Given the description of an element on the screen output the (x, y) to click on. 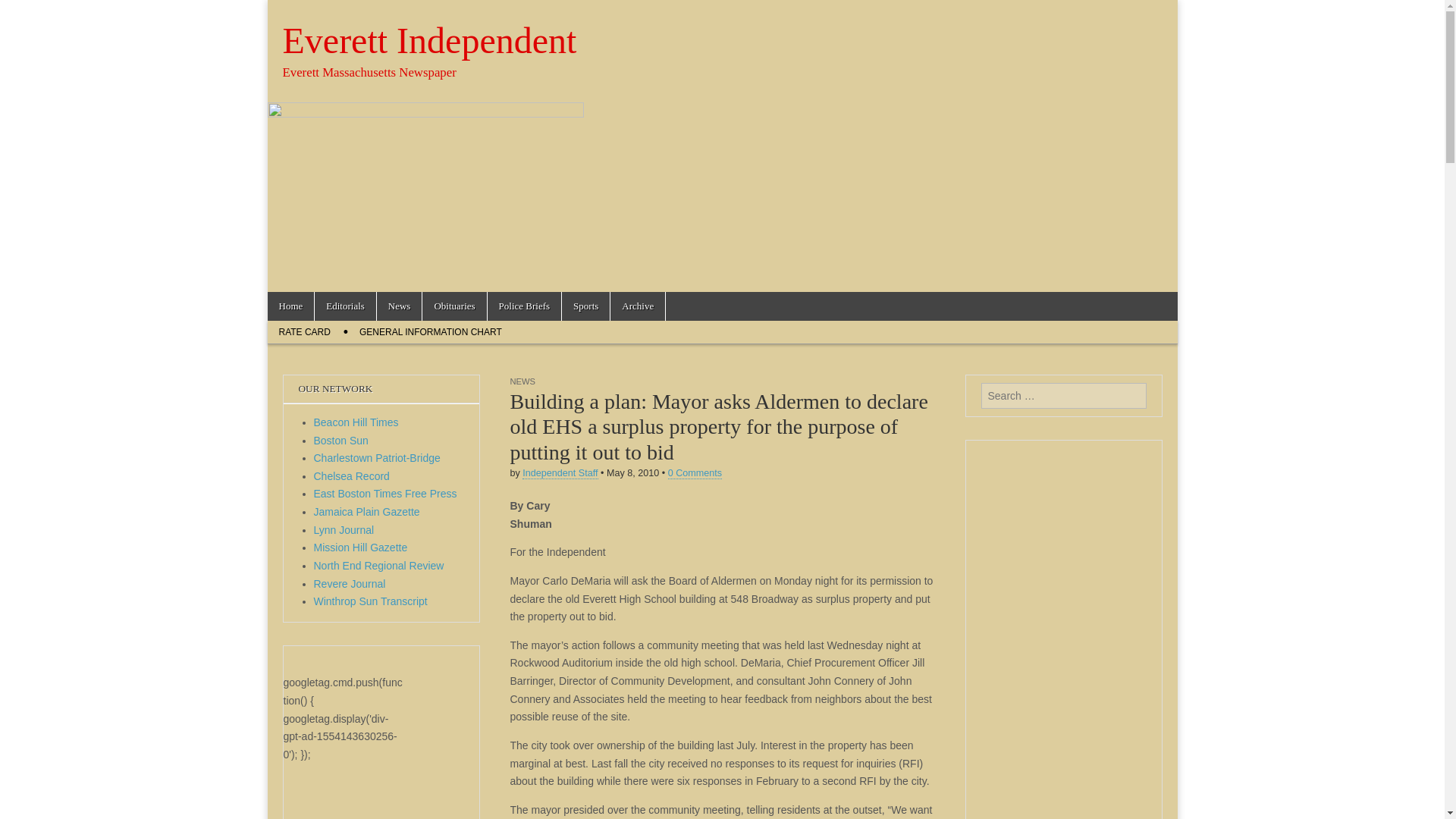
Everett Independent (429, 40)
RATE CARD (303, 332)
Posts by Independent Staff (559, 473)
News (399, 306)
Home (290, 306)
Beacon Hill Times (356, 422)
Winthrop Sun Transcript (371, 601)
North End Regional Review (379, 565)
Everett Independent (429, 40)
Archive (637, 306)
Editorials (344, 306)
East Boston Times Free Press (385, 493)
